Given the description of an element on the screen output the (x, y) to click on. 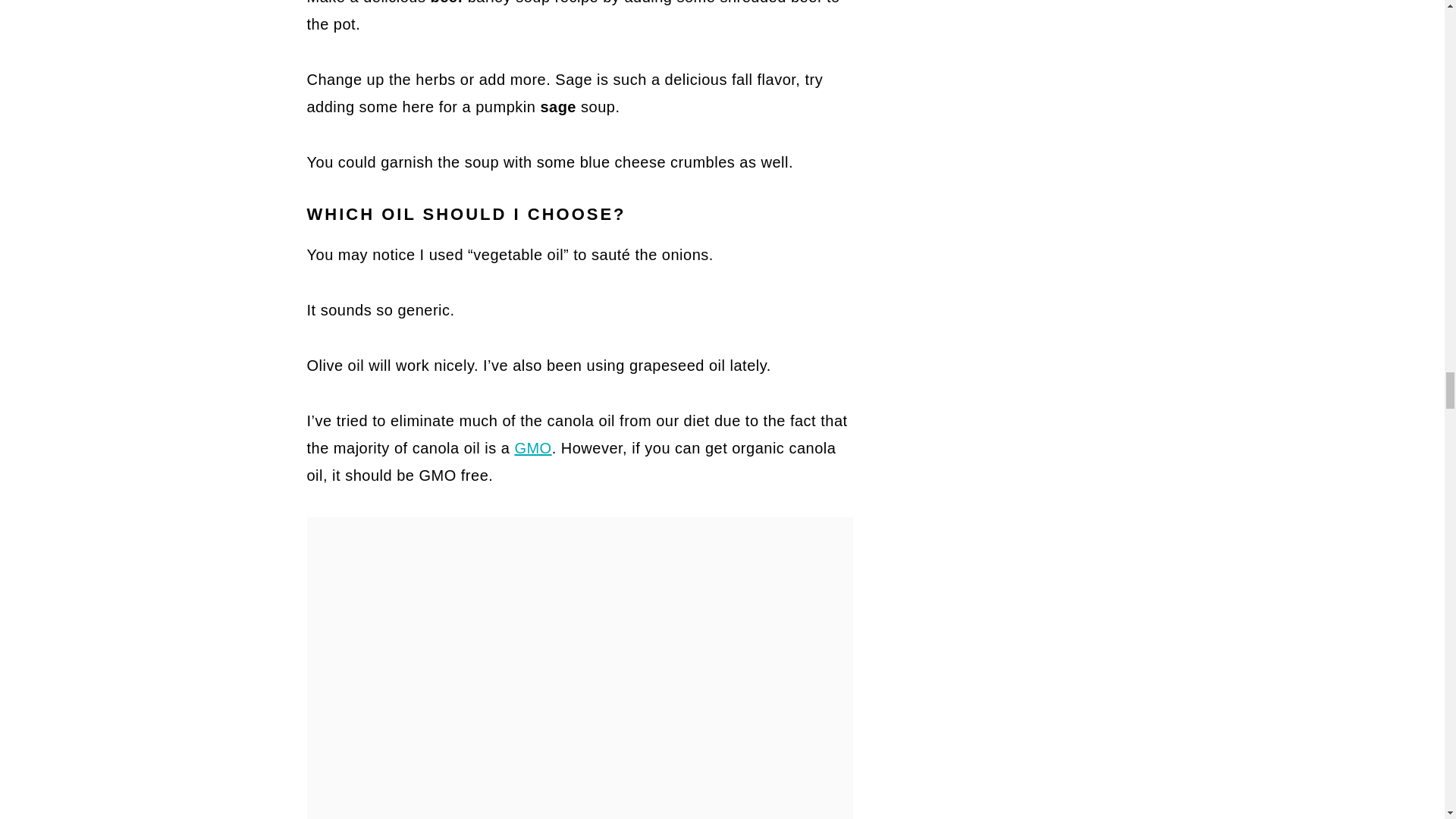
GMO (532, 447)
